Given the description of an element on the screen output the (x, y) to click on. 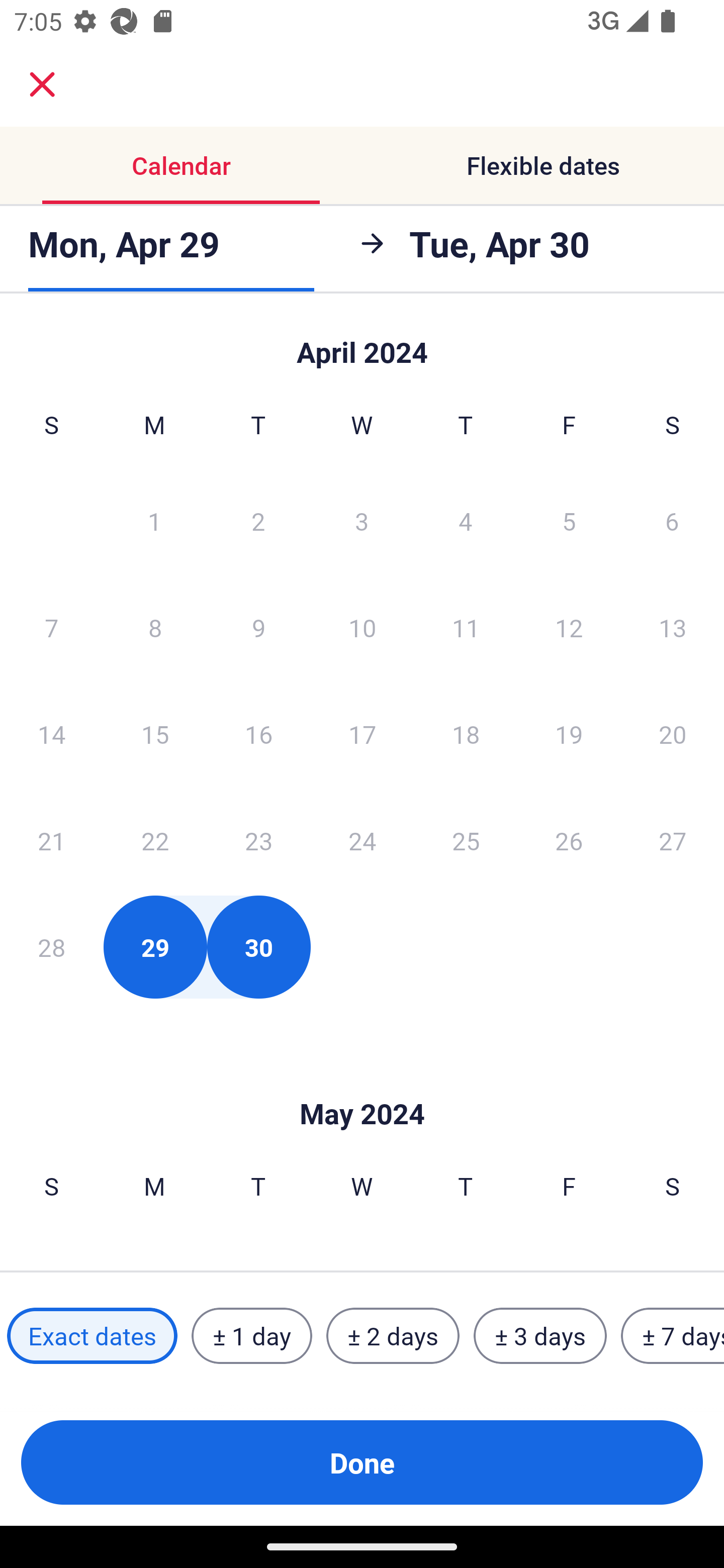
close. (42, 84)
Flexible dates (542, 164)
Skip to Done (362, 343)
1 Monday, April 1, 2024 (154, 520)
2 Tuesday, April 2, 2024 (257, 520)
3 Wednesday, April 3, 2024 (361, 520)
4 Thursday, April 4, 2024 (465, 520)
5 Friday, April 5, 2024 (568, 520)
6 Saturday, April 6, 2024 (672, 520)
7 Sunday, April 7, 2024 (51, 626)
8 Monday, April 8, 2024 (155, 626)
9 Tuesday, April 9, 2024 (258, 626)
10 Wednesday, April 10, 2024 (362, 626)
11 Thursday, April 11, 2024 (465, 626)
12 Friday, April 12, 2024 (569, 626)
13 Saturday, April 13, 2024 (672, 626)
14 Sunday, April 14, 2024 (51, 733)
15 Monday, April 15, 2024 (155, 733)
16 Tuesday, April 16, 2024 (258, 733)
17 Wednesday, April 17, 2024 (362, 733)
18 Thursday, April 18, 2024 (465, 733)
19 Friday, April 19, 2024 (569, 733)
20 Saturday, April 20, 2024 (672, 733)
21 Sunday, April 21, 2024 (51, 840)
22 Monday, April 22, 2024 (155, 840)
23 Tuesday, April 23, 2024 (258, 840)
24 Wednesday, April 24, 2024 (362, 840)
25 Thursday, April 25, 2024 (465, 840)
26 Friday, April 26, 2024 (569, 840)
27 Saturday, April 27, 2024 (672, 840)
28 Sunday, April 28, 2024 (51, 946)
Skip to Done (362, 1083)
Exact dates (92, 1335)
± 1 day (251, 1335)
± 2 days (392, 1335)
± 3 days (539, 1335)
± 7 days (672, 1335)
Done (361, 1462)
